Given the description of an element on the screen output the (x, y) to click on. 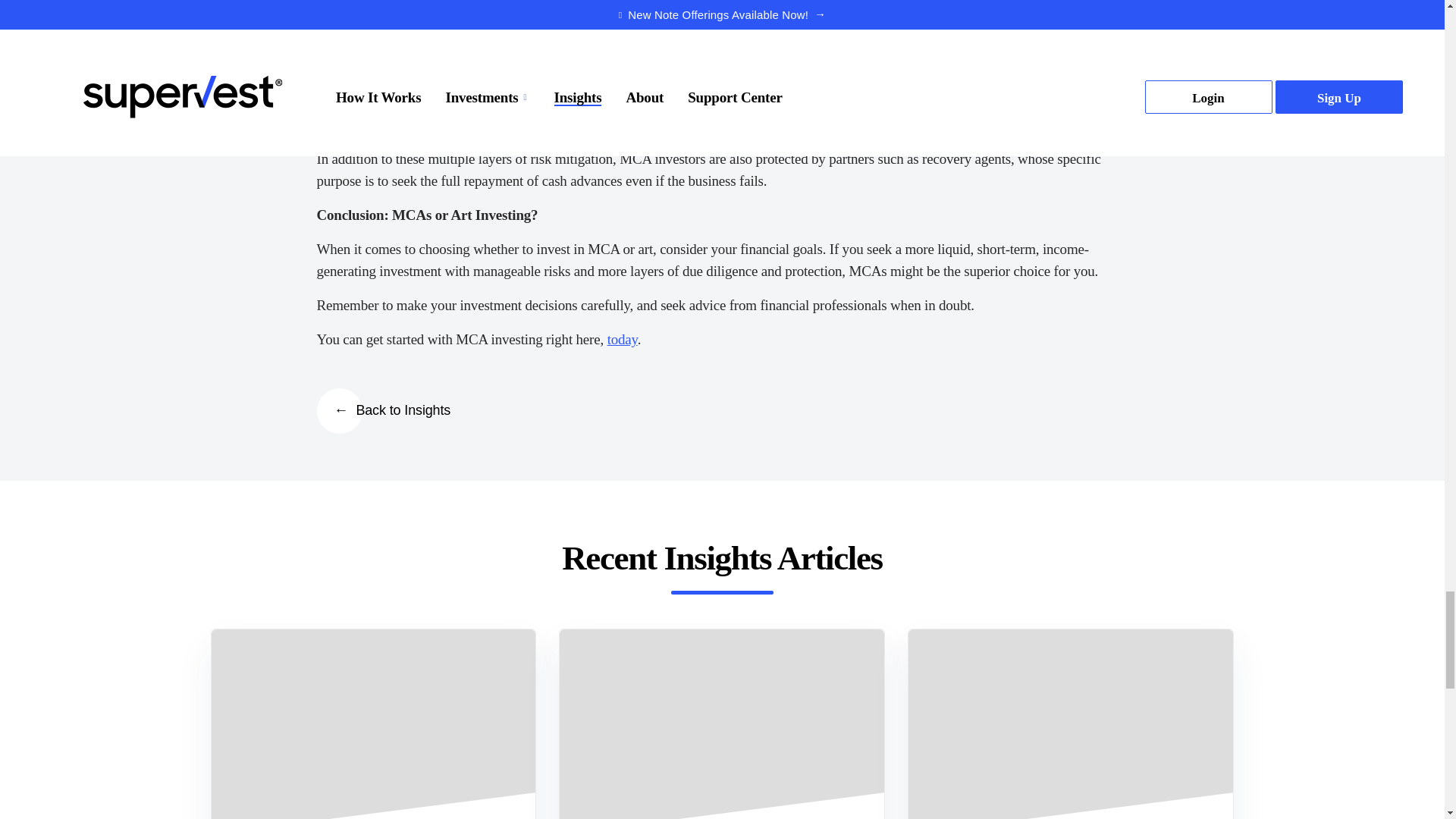
today (622, 339)
legal due diligence (847, 80)
Back to Insights (391, 409)
